Given the description of an element on the screen output the (x, y) to click on. 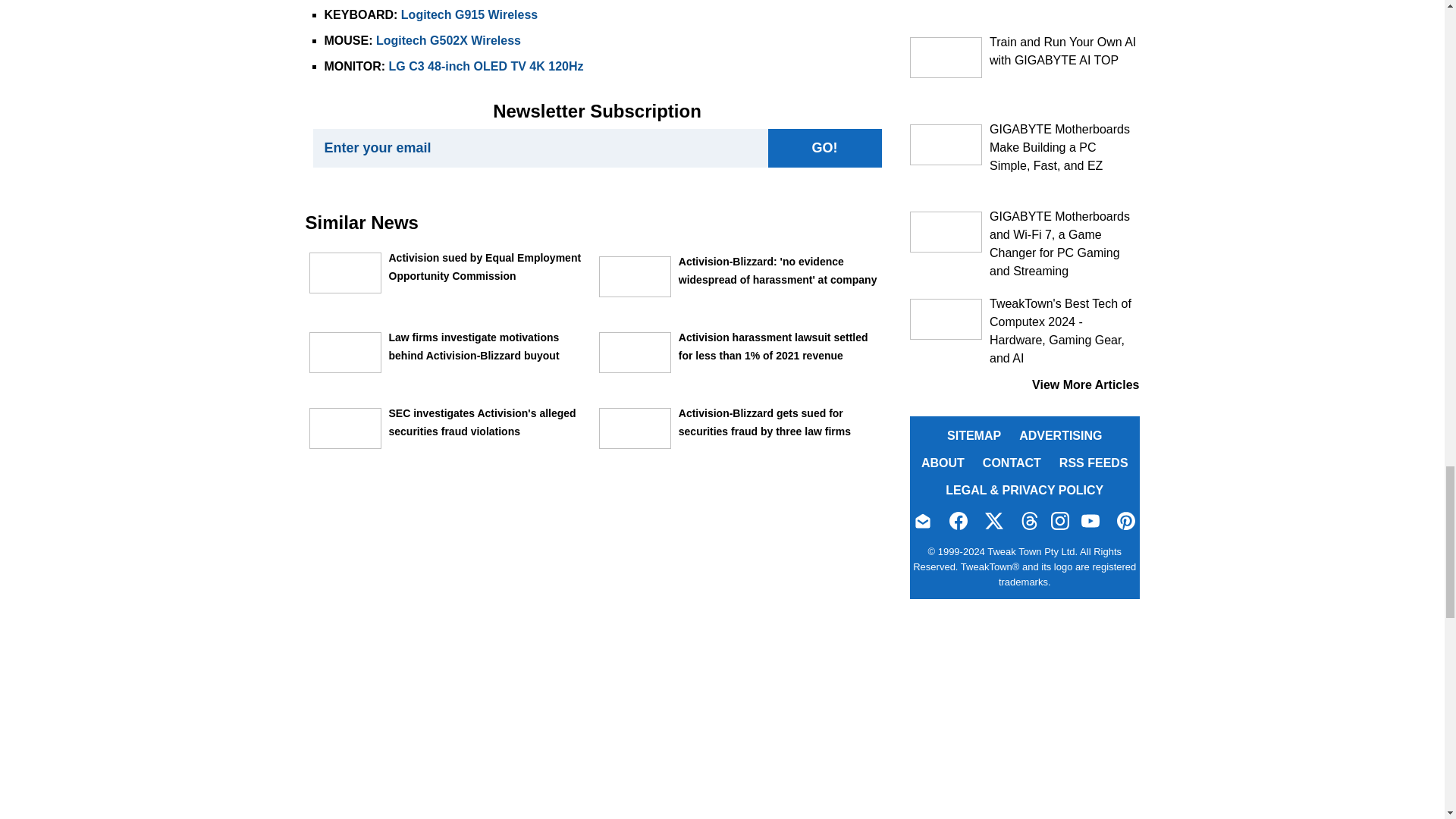
GO! (823, 147)
